Given the description of an element on the screen output the (x, y) to click on. 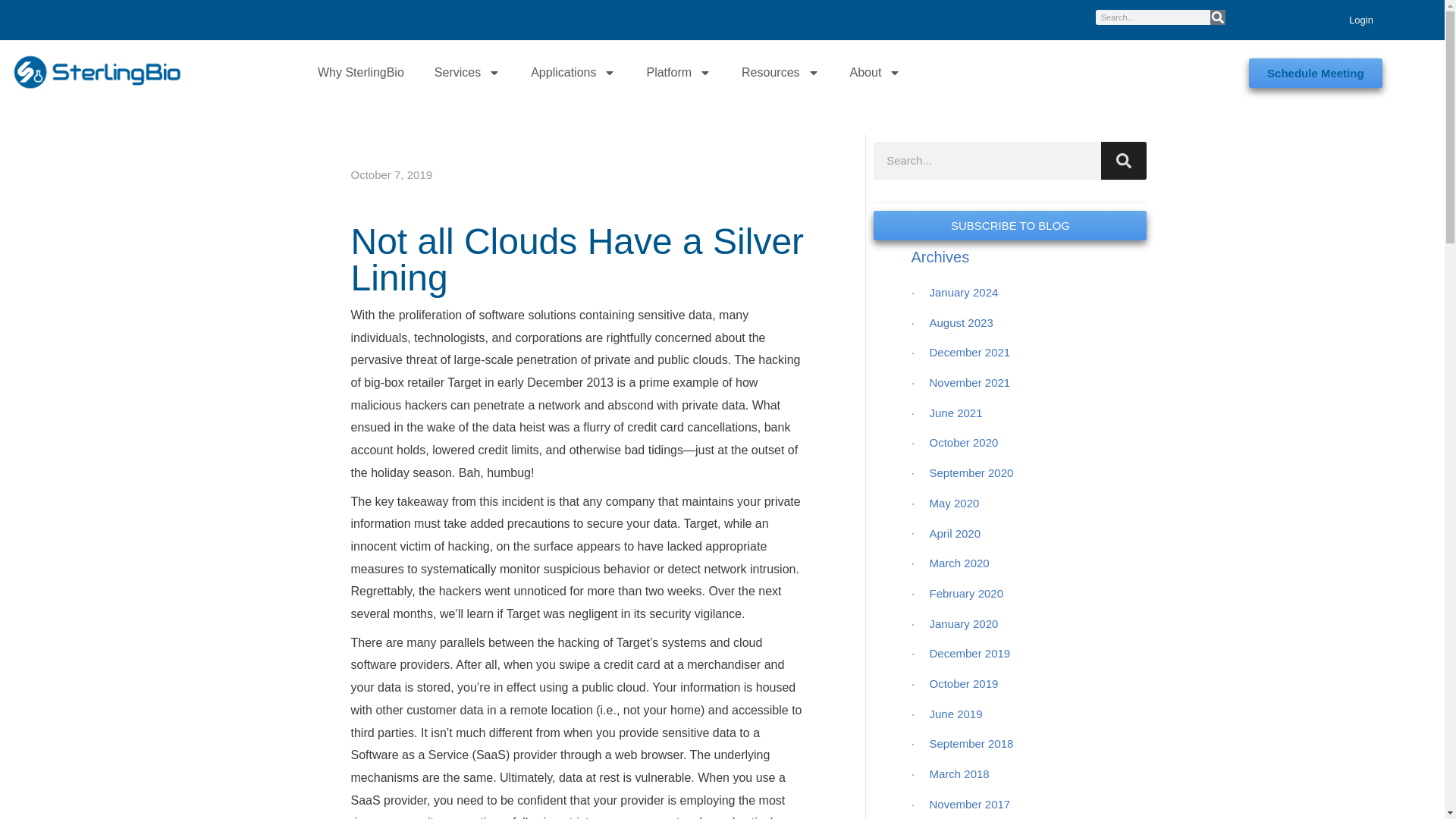
Why SterlingBio (360, 72)
Search (1217, 17)
Login (1359, 19)
Services (467, 72)
About (875, 72)
Applications (572, 72)
Platform (678, 72)
Resources (780, 72)
